Given the description of an element on the screen output the (x, y) to click on. 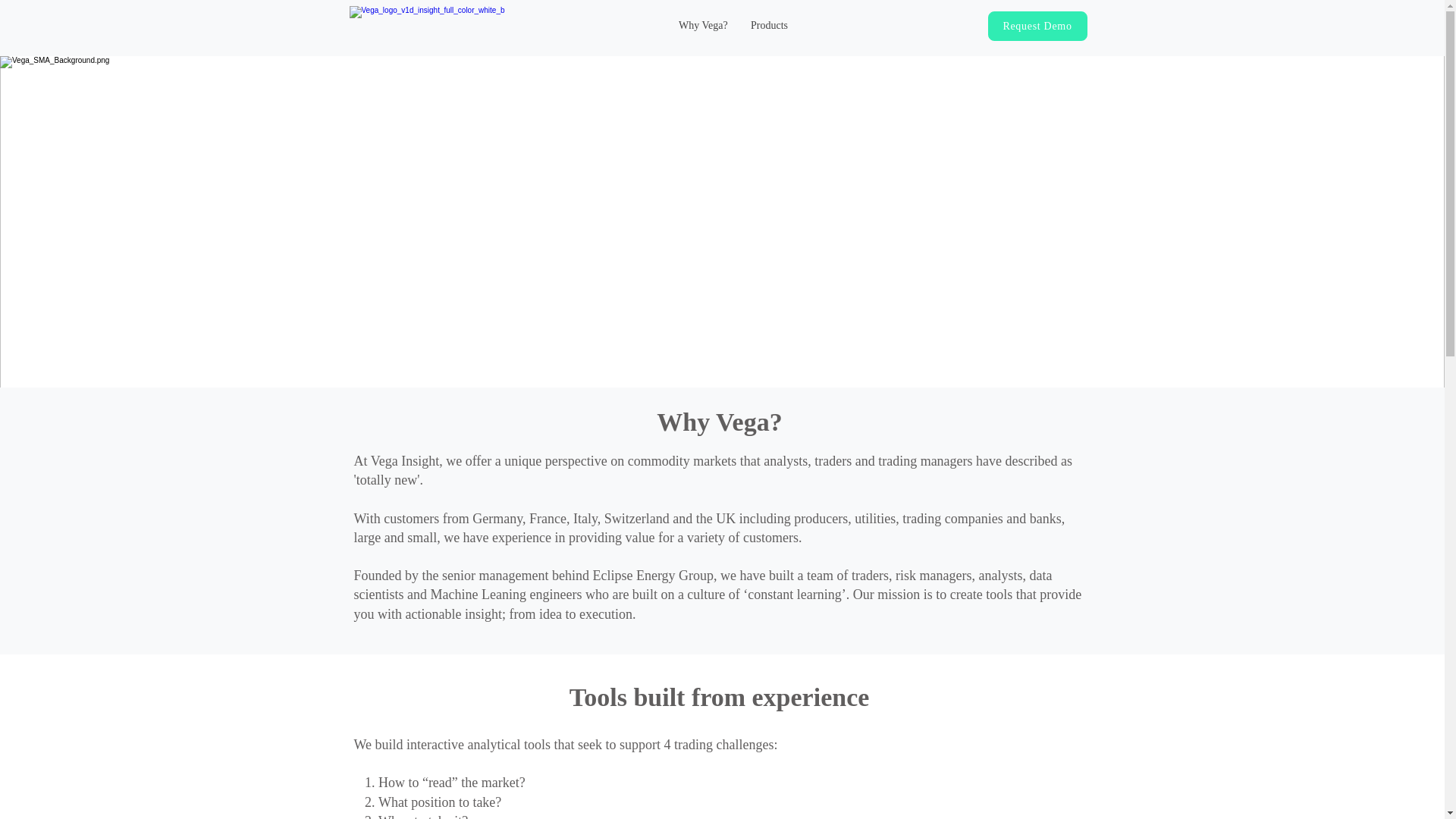
Products (769, 25)
Request Demo (1036, 25)
Why Vega? (702, 25)
